Given the description of an element on the screen output the (x, y) to click on. 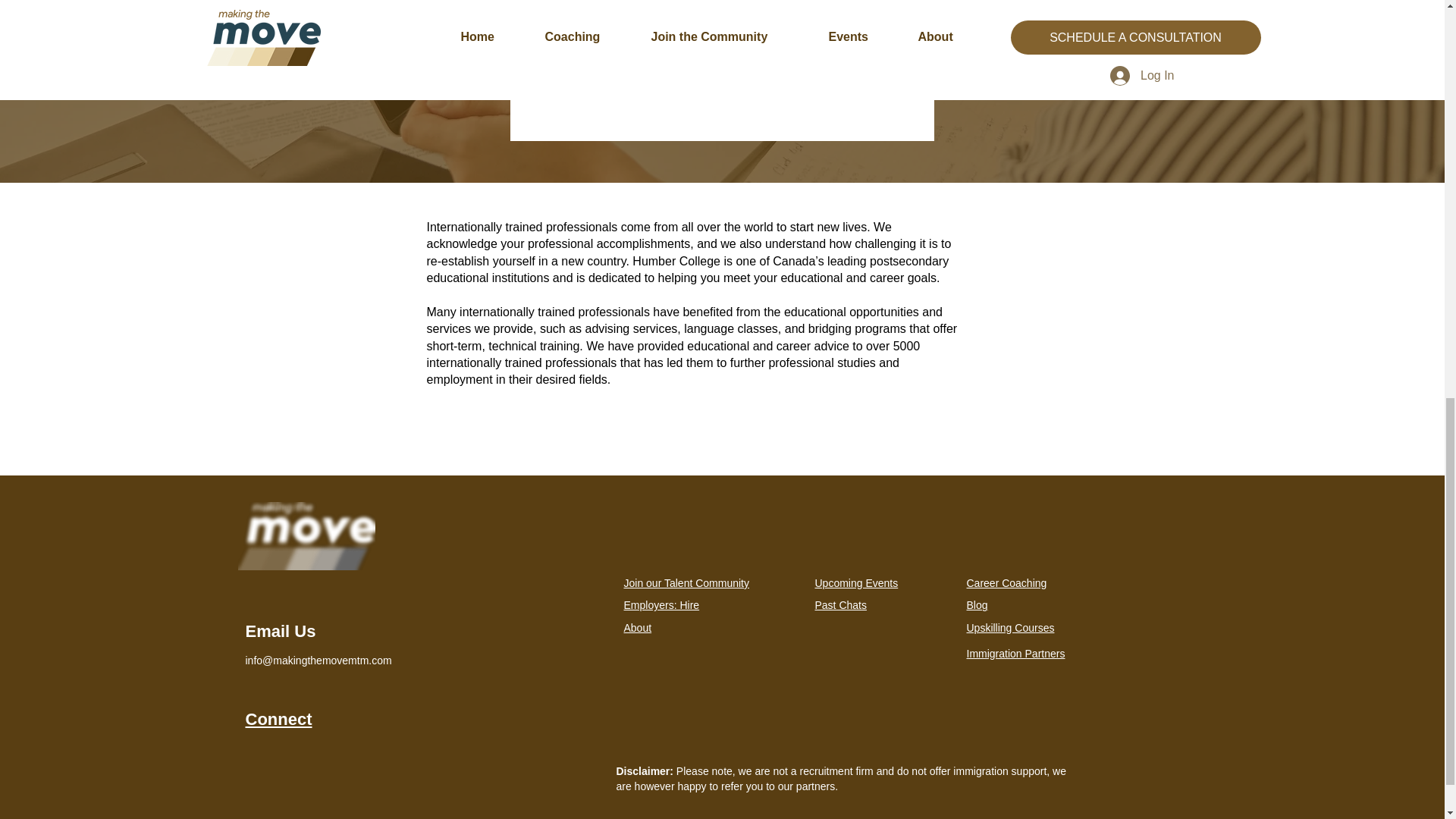
Employers: Hire (660, 604)
Past Chats (839, 604)
About (636, 627)
Join our Talent Community (685, 582)
Upskilling Courses (1010, 627)
Immigration Partners (1015, 653)
Career Coaching (1006, 582)
Connect (279, 719)
Upcoming Events (855, 582)
Blog (976, 604)
Submit (720, 55)
